Given the description of an element on the screen output the (x, y) to click on. 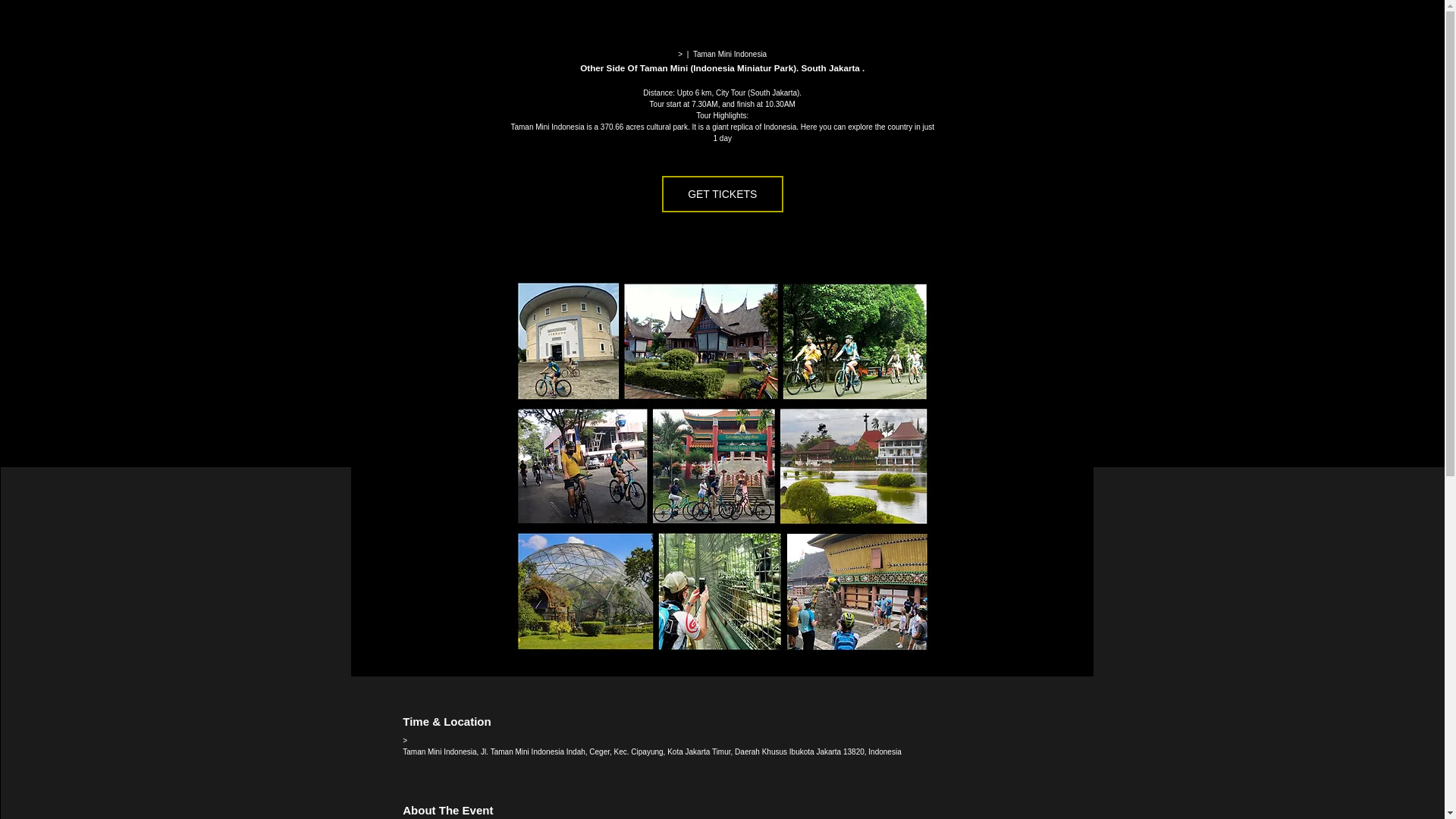
GET TICKETS (722, 194)
